Given the description of an element on the screen output the (x, y) to click on. 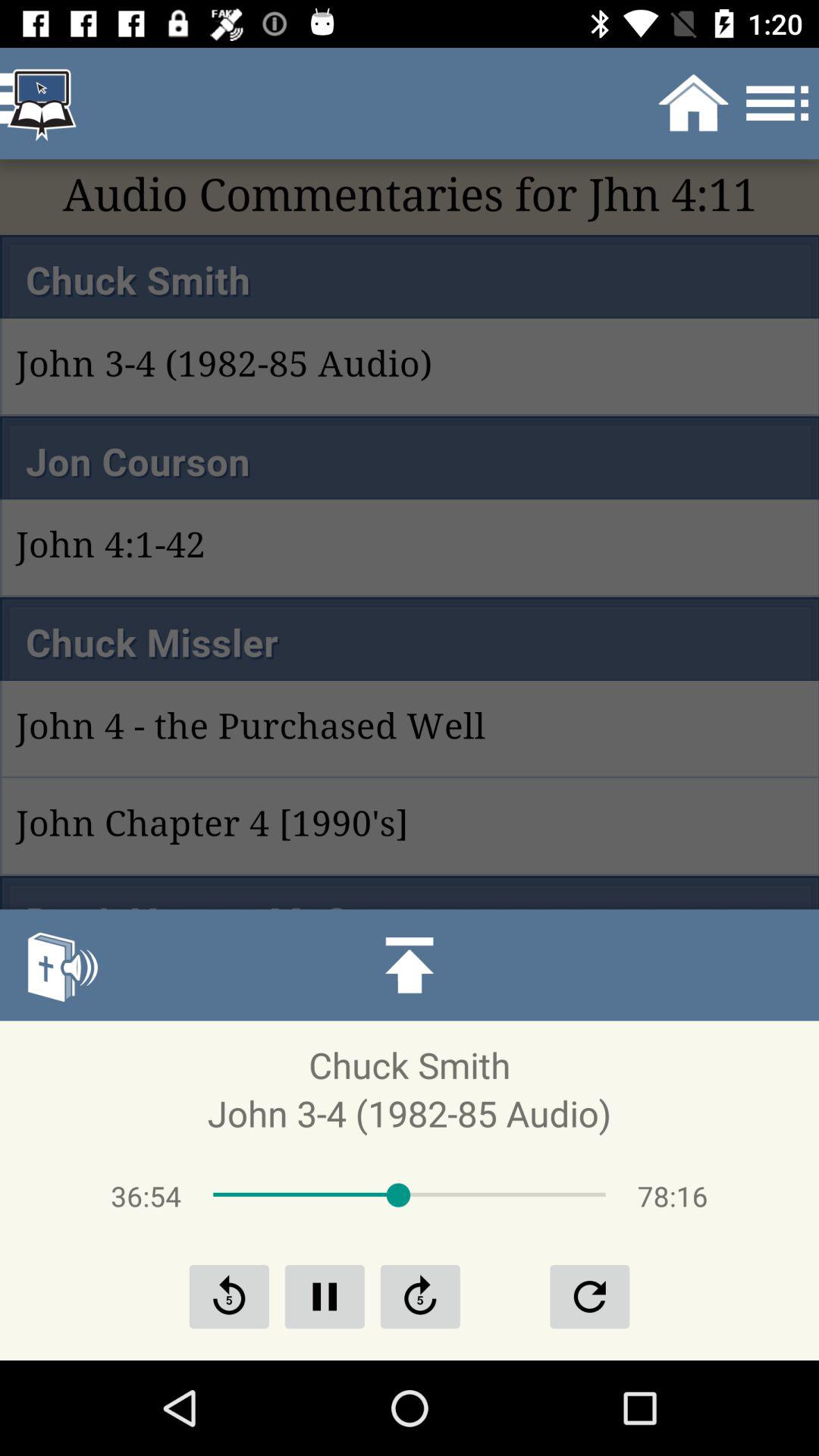
pause audio (324, 1296)
